Given the description of an element on the screen output the (x, y) to click on. 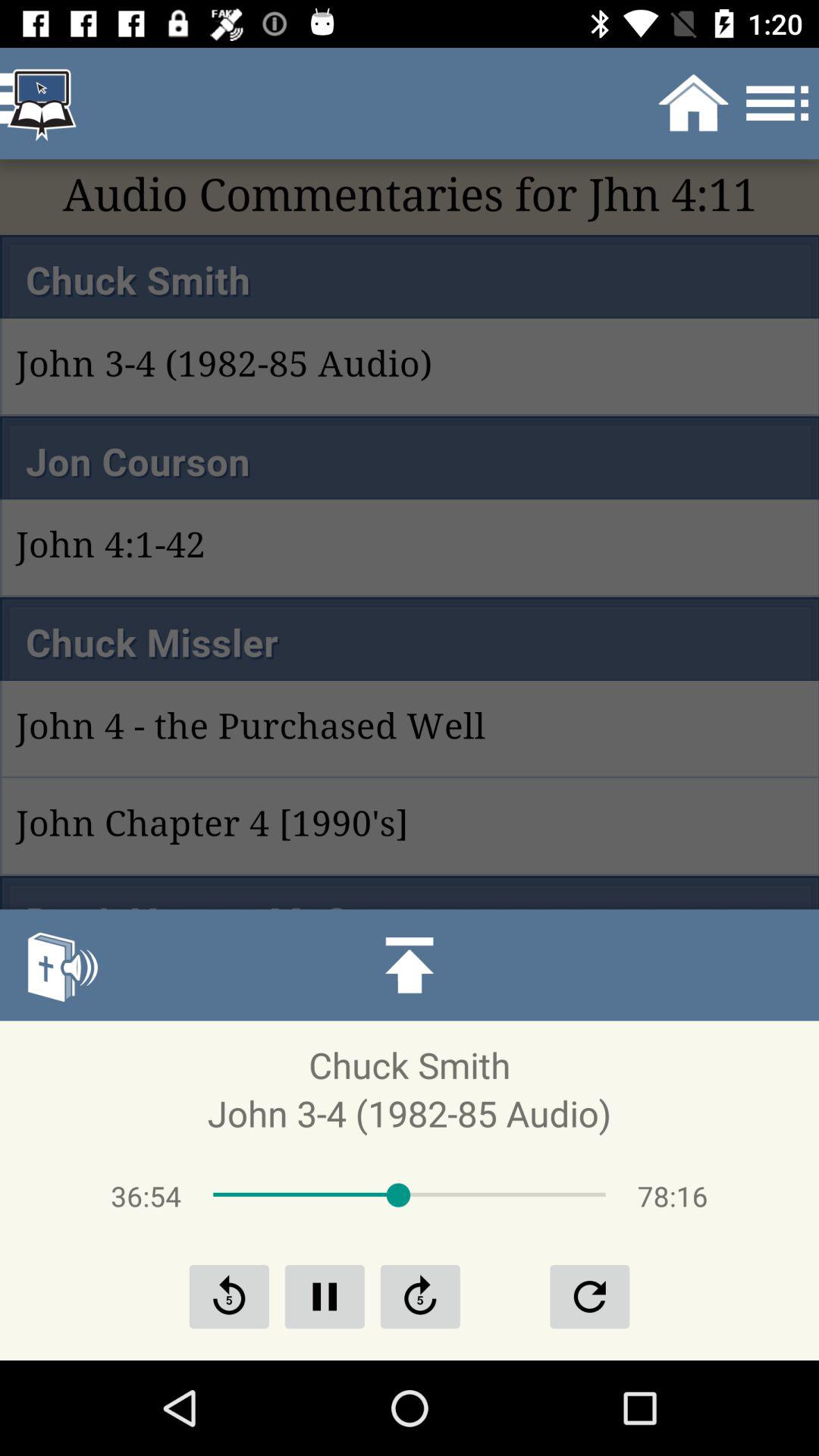
pause audio (324, 1296)
